Given the description of an element on the screen output the (x, y) to click on. 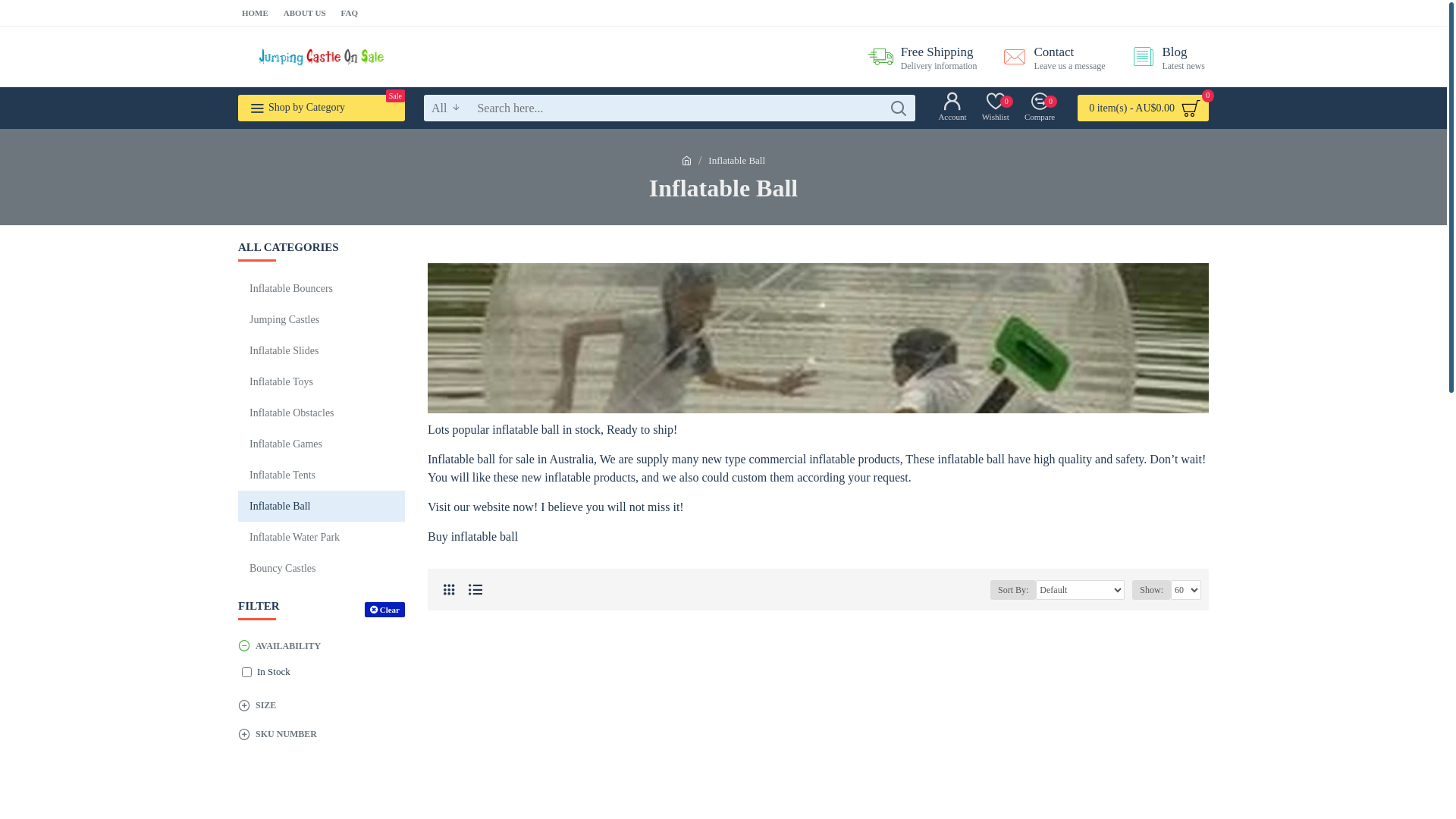
Inflatable Ball Element type: text (736, 160)
SKU NUMBER Element type: text (321, 733)
Inflatable Games Element type: text (321, 443)
Account Element type: text (951, 107)
Compare
0 Element type: text (1039, 107)
Contact
Leave us a message Element type: text (1048, 56)
AVAILABILITY Element type: text (321, 645)
Inflatable Ball Element type: hover (817, 338)
Inflatable Slides Element type: text (321, 350)
Wishlist
0 Element type: text (995, 107)
Inflatable Ball Element type: text (321, 505)
Inflatable Toys Element type: text (321, 381)
jumpingcastleonsale.com.au Element type: hover (321, 56)
Jumping Castles Element type: text (321, 319)
SIZE Element type: text (321, 704)
Inflatable Bouncers Element type: text (321, 288)
ABOUT US Element type: text (304, 13)
Inflatable Water Park Element type: text (321, 536)
Shop by Category
Sale Element type: text (321, 107)
Inflatable Obstacles Element type: text (321, 412)
0 item(s) - AU$0.00
0 Element type: text (1142, 107)
FAQ Element type: text (349, 13)
Free Shipping
Delivery information Element type: text (917, 56)
HOME Element type: text (255, 13)
Clear Element type: text (384, 609)
Bouncy Castles Element type: text (321, 567)
Inflatable Tents Element type: text (321, 474)
Blog
Latest news Element type: text (1162, 56)
